Given the description of an element on the screen output the (x, y) to click on. 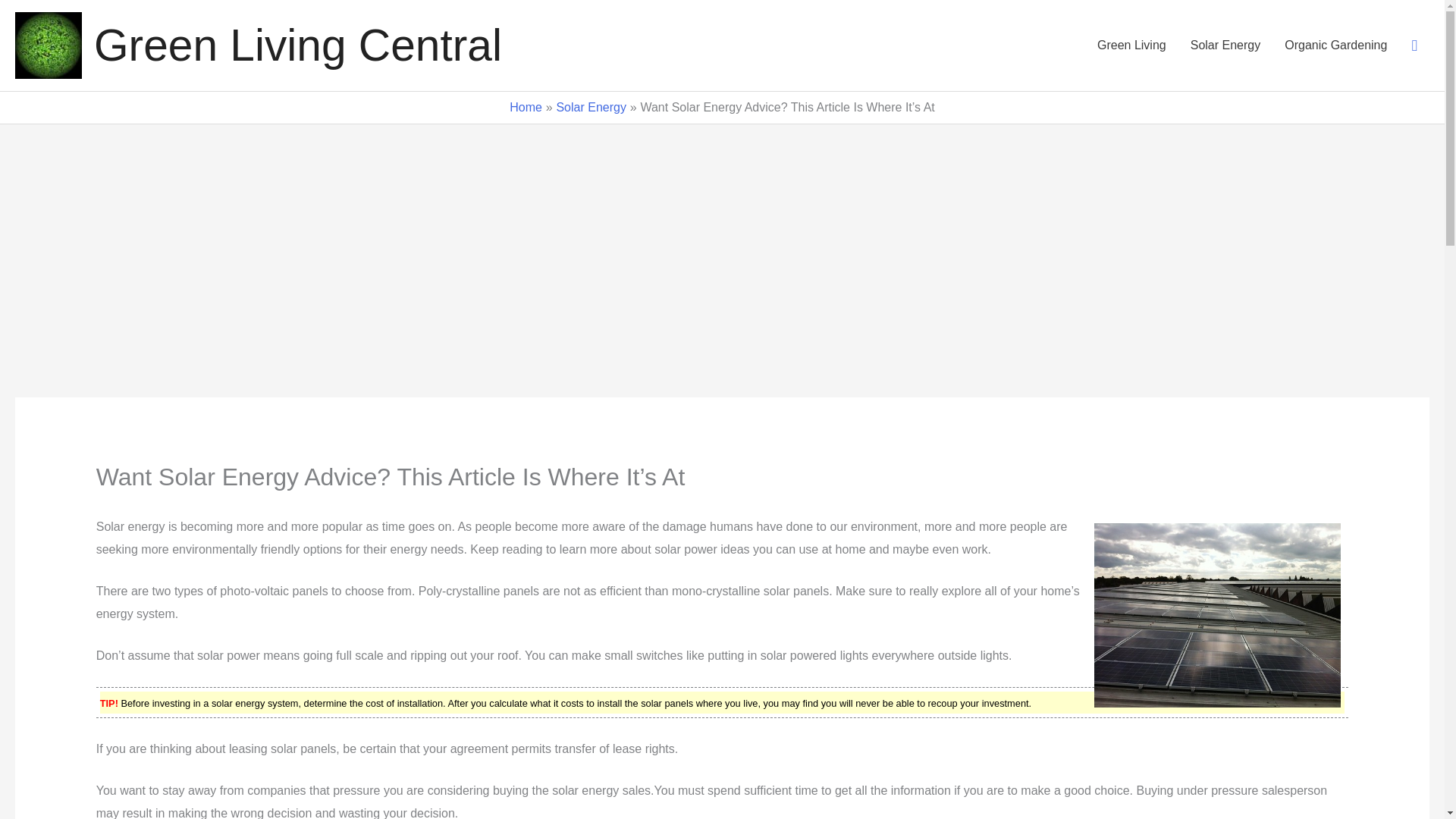
Solar Energy (1224, 45)
Home (525, 106)
Search (1413, 45)
Green Living Central (298, 44)
Organic Gardening (1335, 45)
Solar Energy (591, 106)
Green Living (1130, 45)
